Given the description of an element on the screen output the (x, y) to click on. 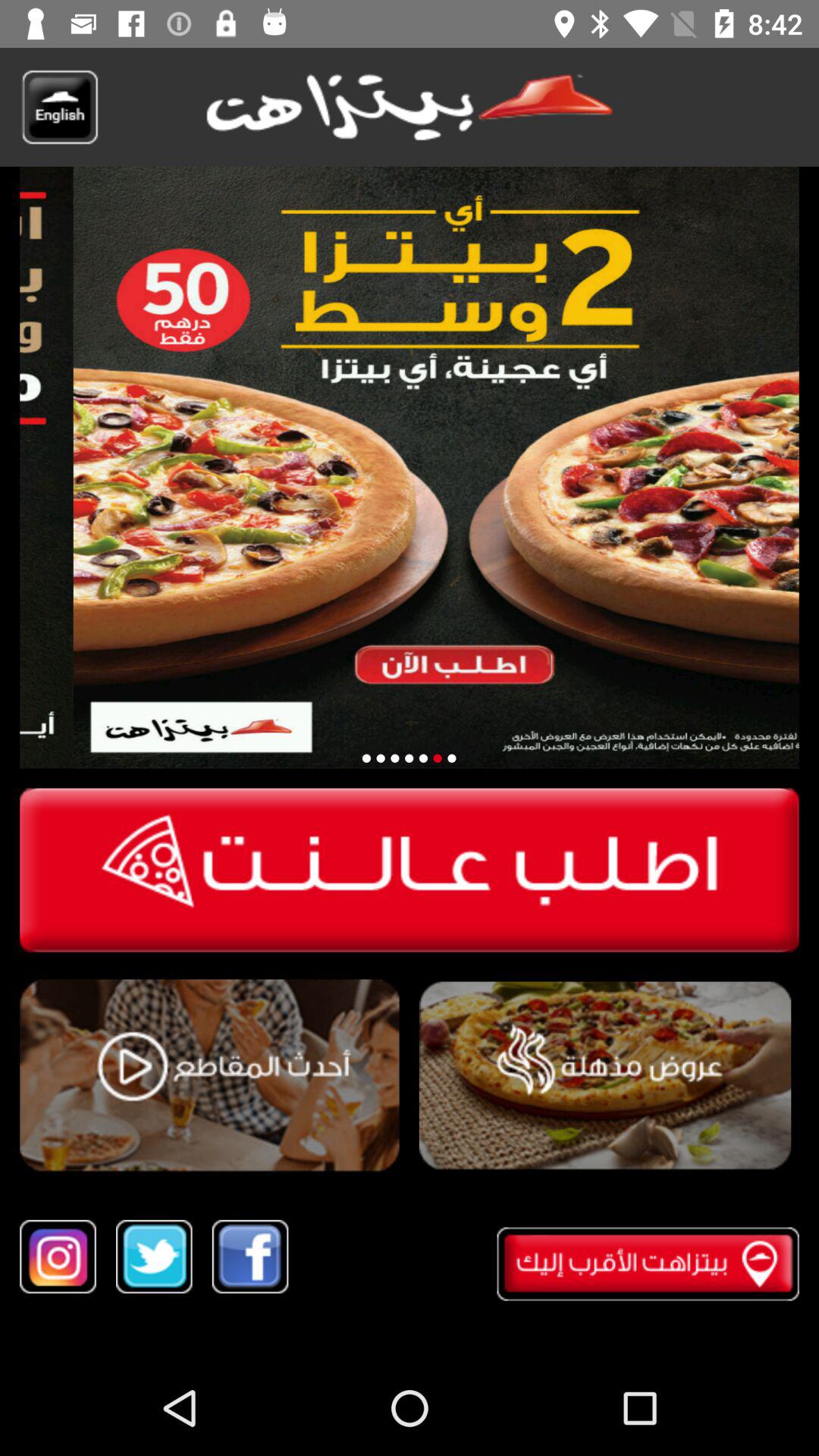
views the next photo in the slide menu (423, 758)
